Given the description of an element on the screen output the (x, y) to click on. 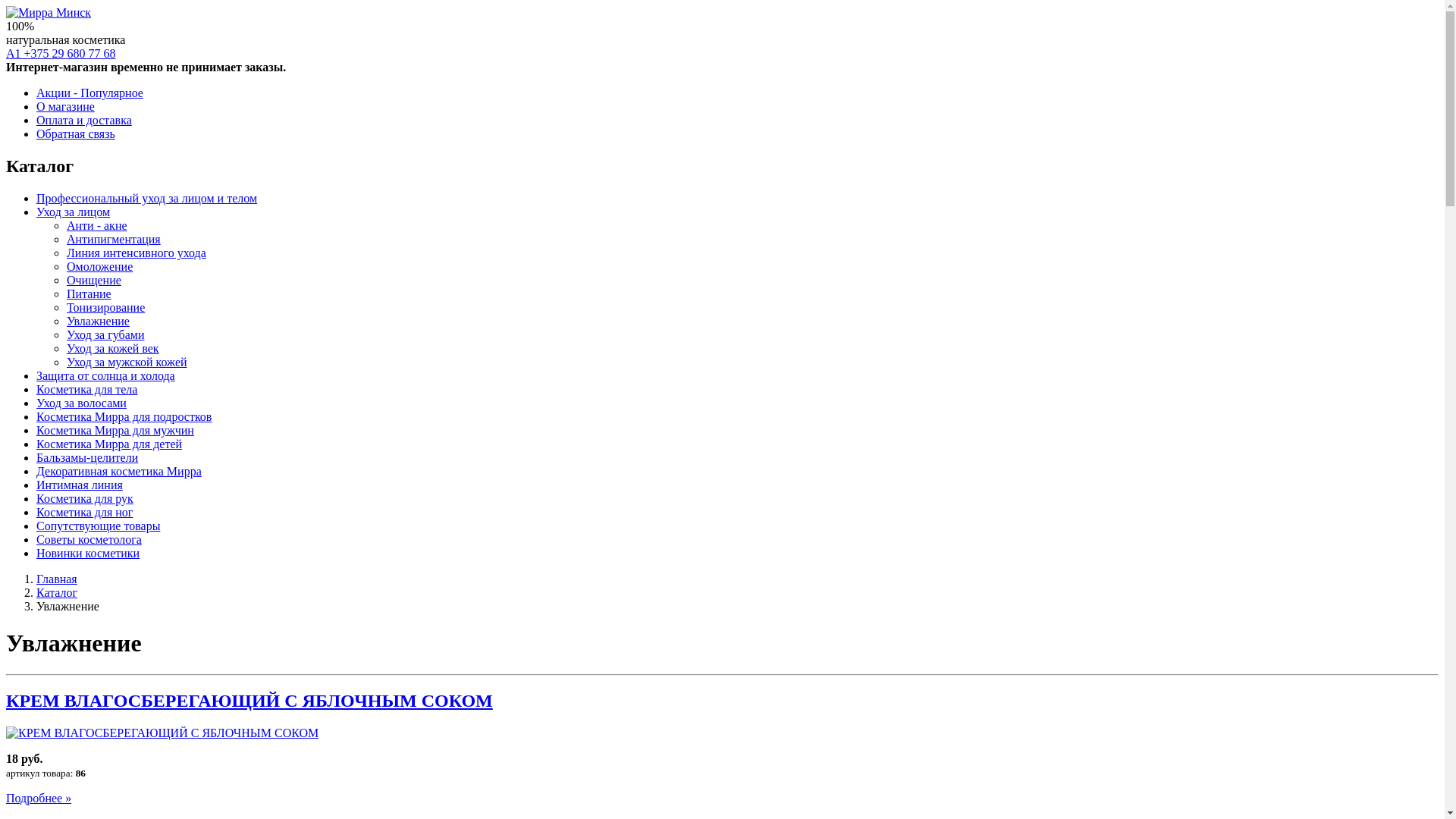
A1 +375 29 680 77 68 Element type: text (61, 53)
